Given the description of an element on the screen output the (x, y) to click on. 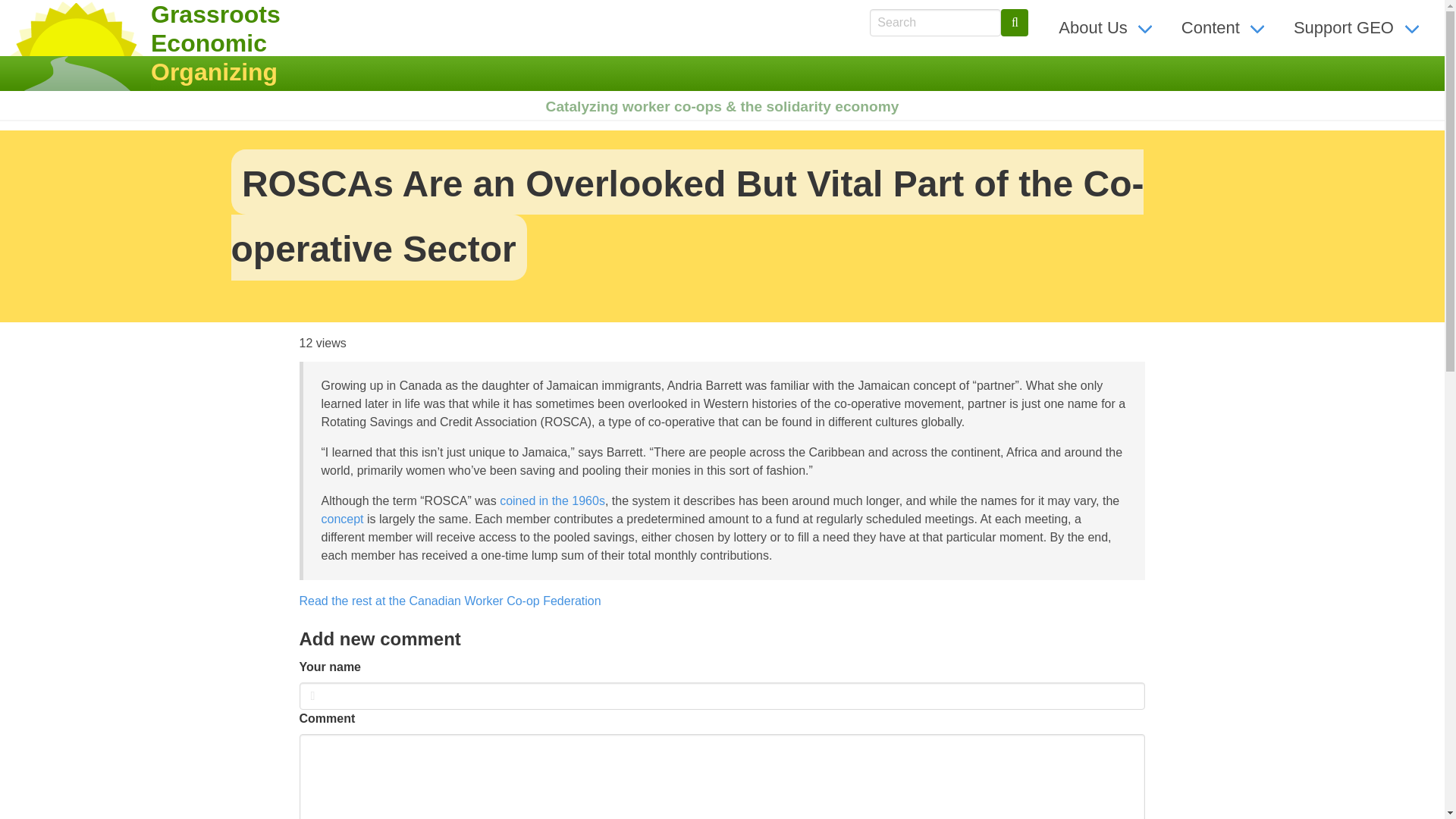
coined in the 1960s (552, 500)
Home (75, 45)
About GEO (1107, 27)
Grassroots Economic Organizing (206, 43)
Read the rest at the Canadian Worker Co-op Federation (448, 600)
About Us (1107, 27)
Search (1014, 22)
Support GEO (1358, 27)
concept (342, 518)
